Given the description of an element on the screen output the (x, y) to click on. 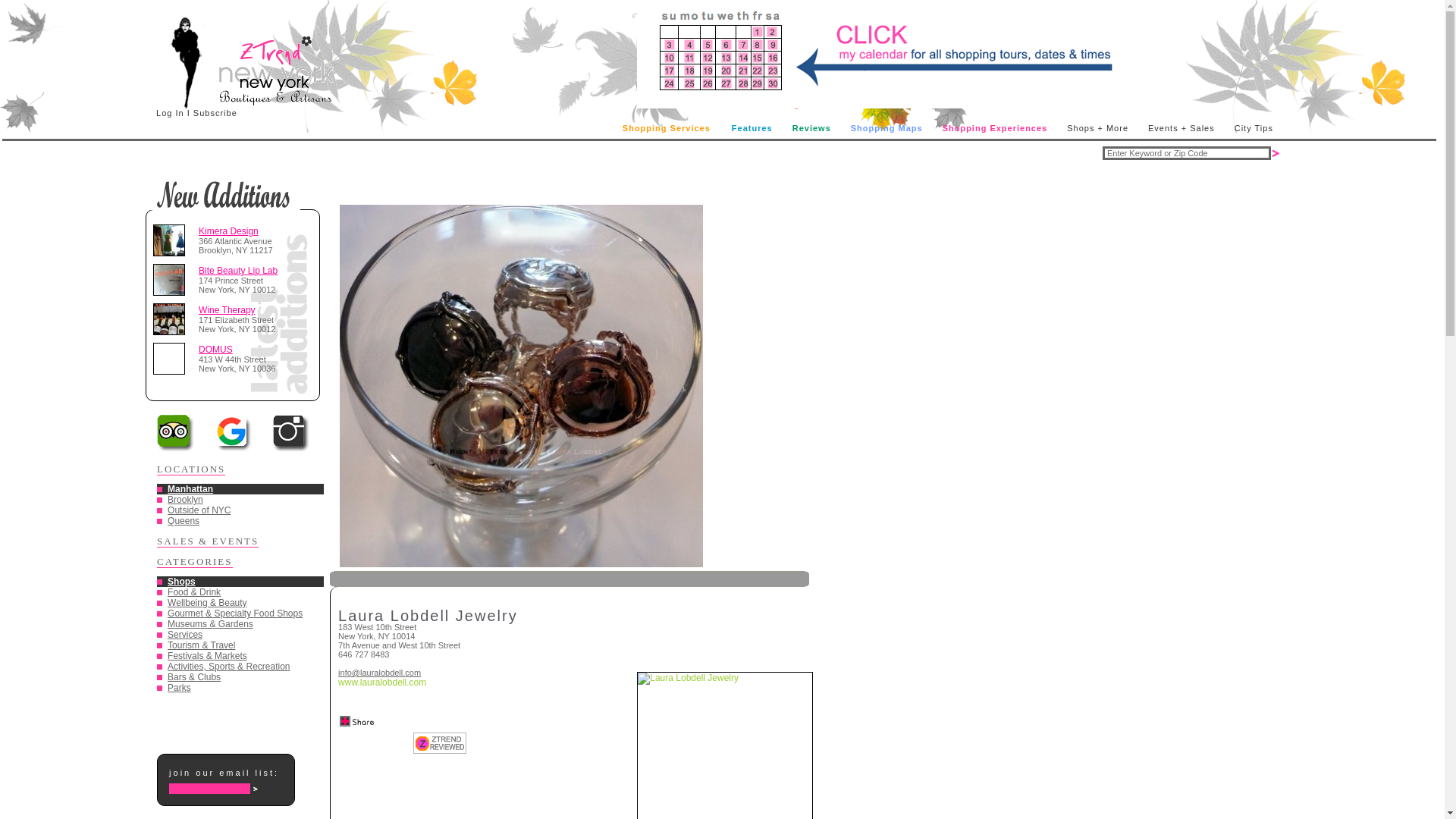
Shopping Maps (885, 127)
DOMUS (171, 358)
Subscribe (215, 112)
DOMUS (215, 348)
Join ZTrend's mailing list. (257, 786)
View all ZTrend Shopping Tours (876, 55)
Log in to your ZTrend account. (169, 112)
 Enter Keyword or Zip Code (1186, 152)
Subscribe to ZTrend's New York City sample sale allerts (215, 112)
Features (750, 127)
Laura Lobdell Jewelry (521, 385)
Kimera Design (228, 231)
Bite Beauty Lip Lab (171, 279)
